Given the description of an element on the screen output the (x, y) to click on. 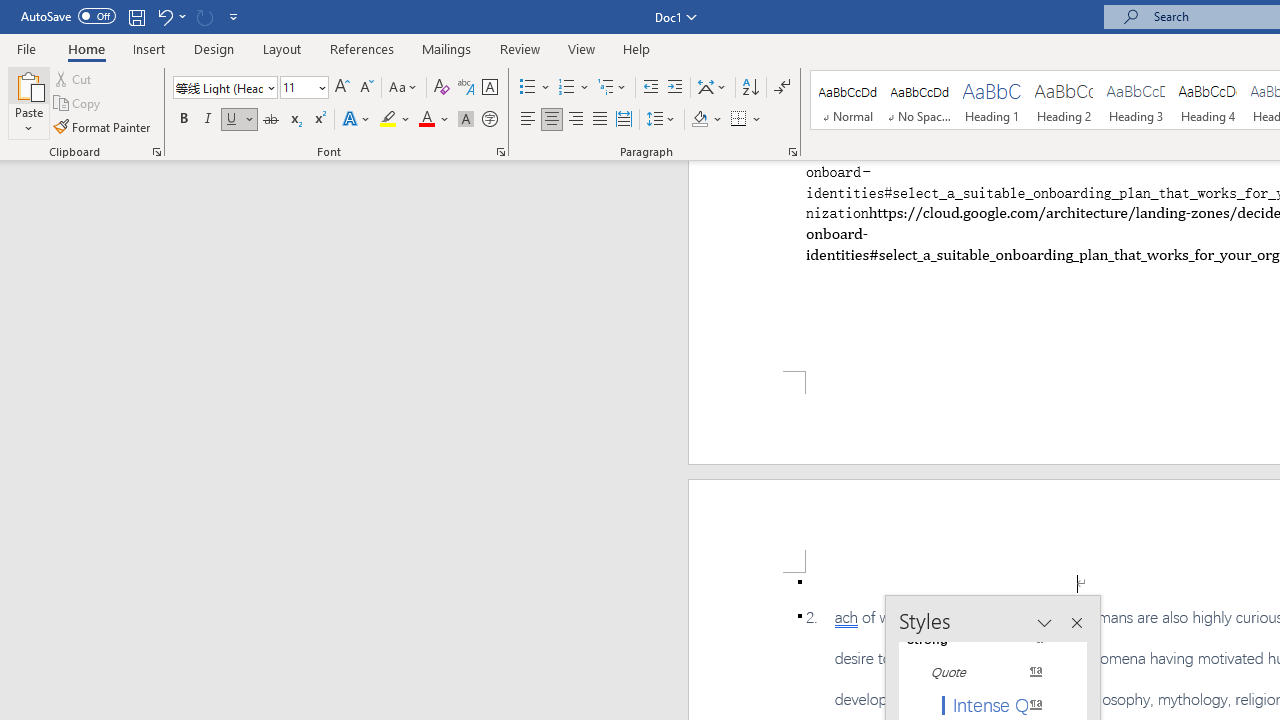
Can't Repeat (204, 15)
